Given the description of an element on the screen output the (x, y) to click on. 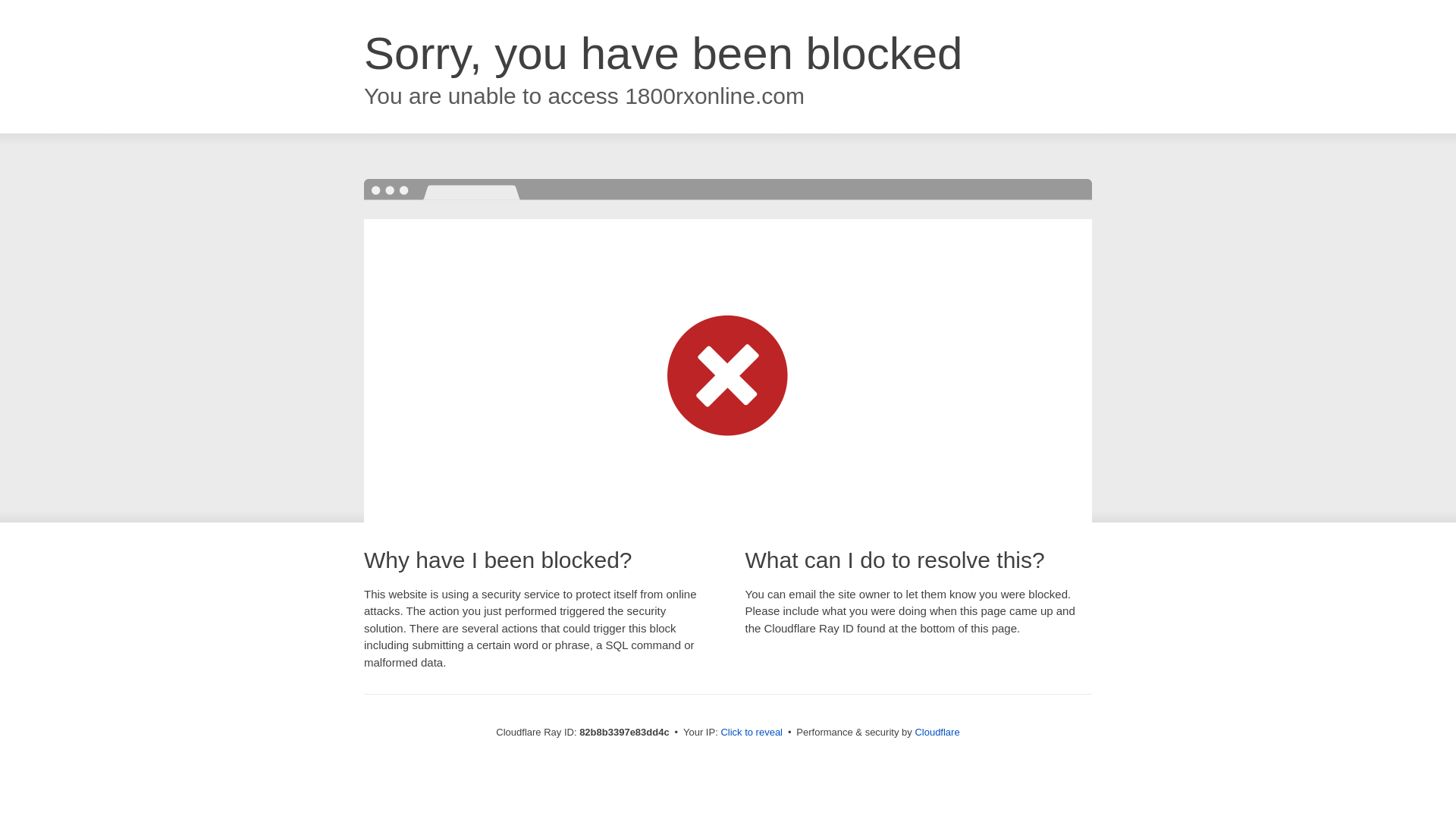
Click to reveal Element type: text (751, 732)
Cloudflare Element type: text (936, 731)
